Given the description of an element on the screen output the (x, y) to click on. 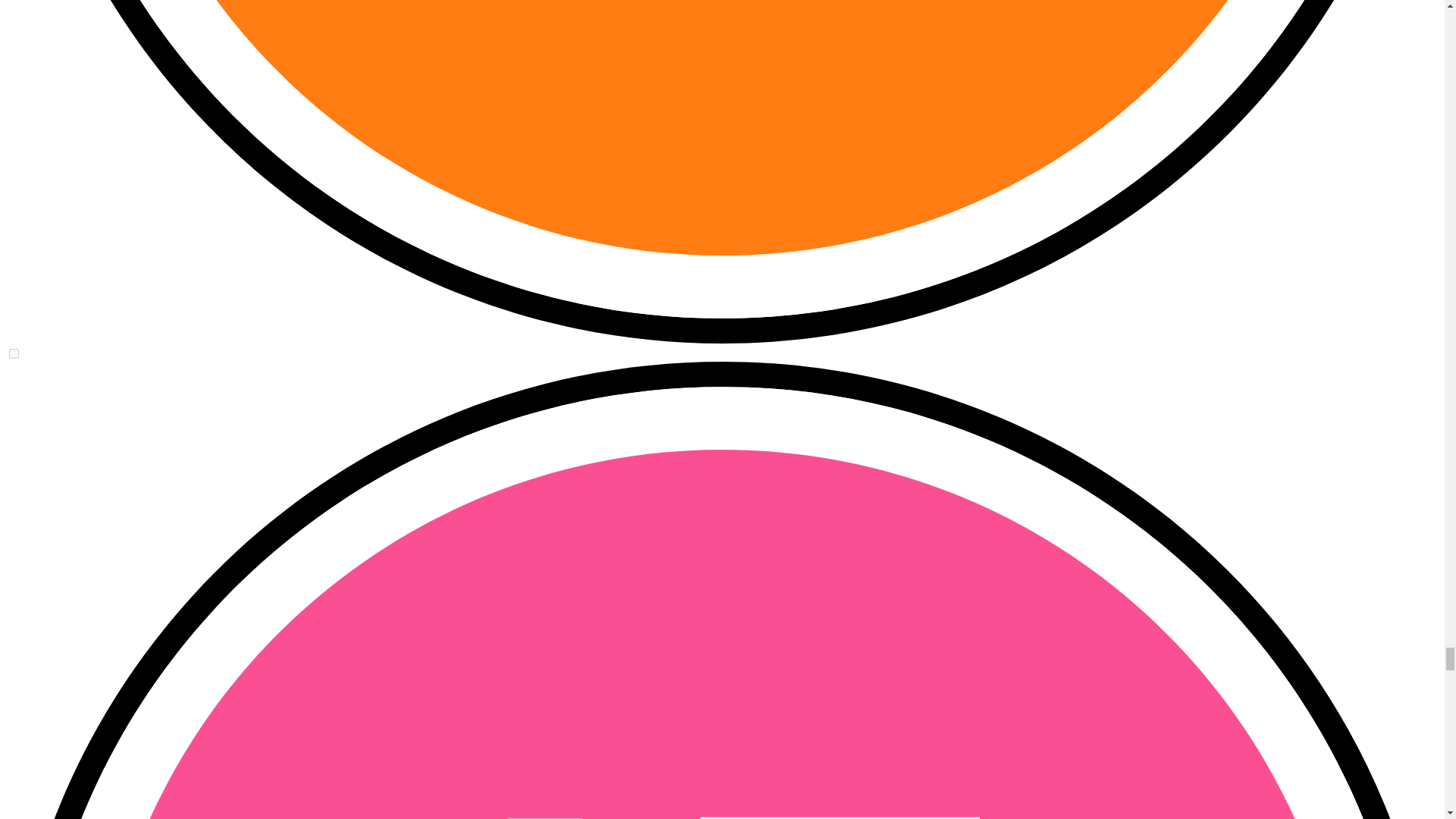
12A (13, 353)
